Given the description of an element on the screen output the (x, y) to click on. 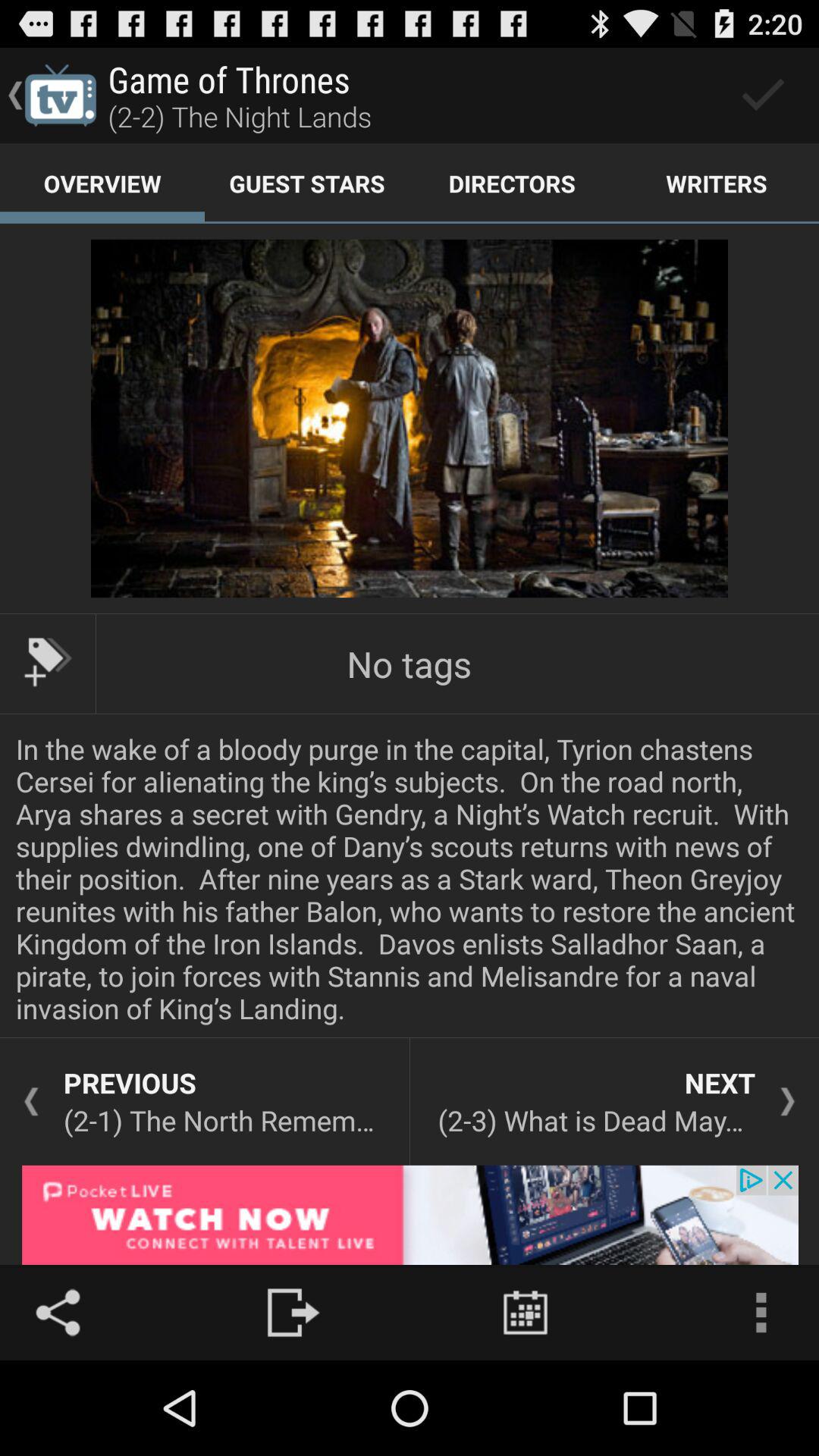
zoom in on picture (409, 418)
